Given the description of an element on the screen output the (x, y) to click on. 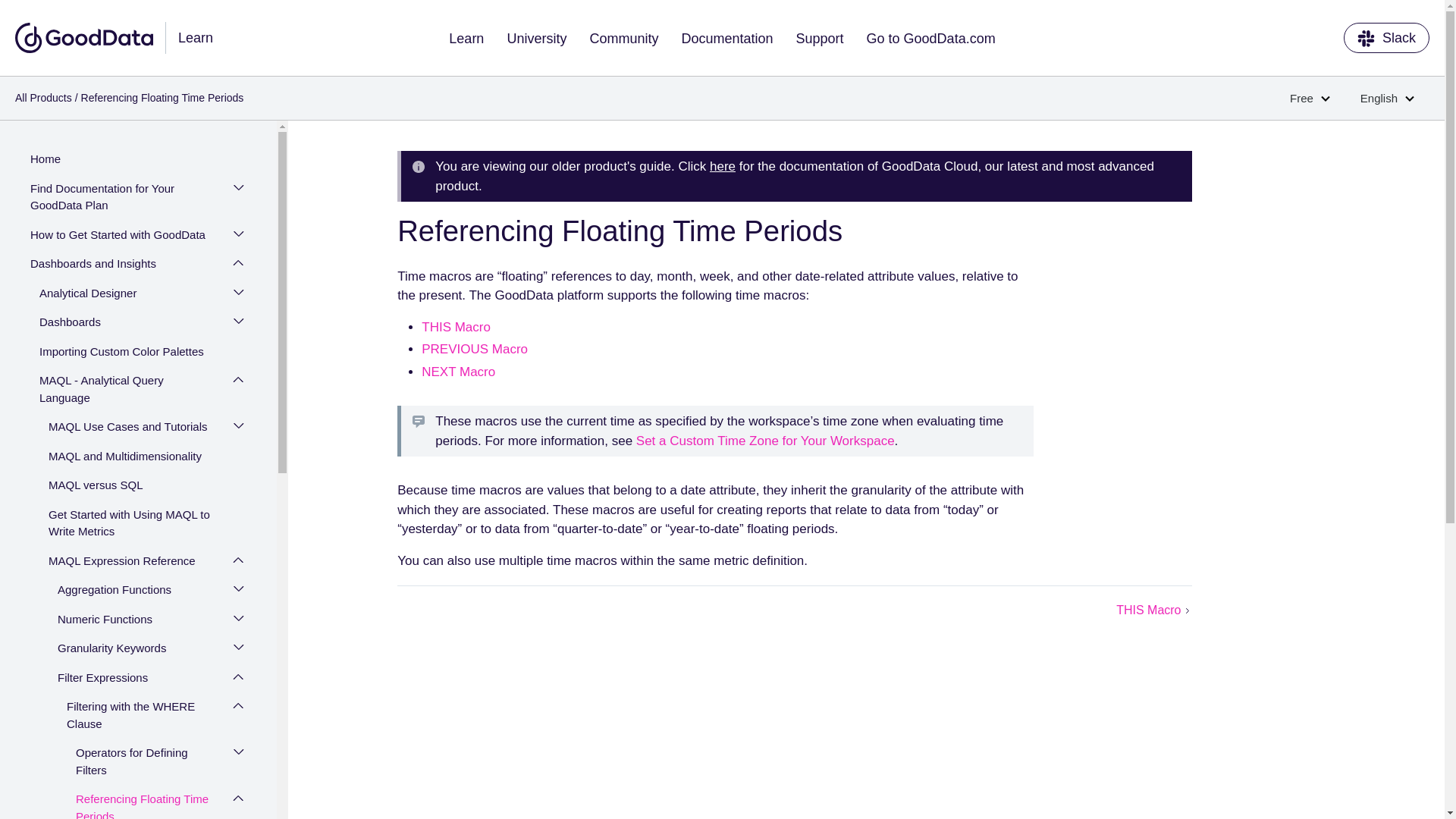
Slack (1386, 37)
Home (130, 160)
Community (623, 37)
Documentation (726, 37)
University (536, 37)
All Products (42, 97)
Go to GoodData.com (931, 37)
How to Get Started with GoodData (122, 236)
Find Documentation for Your GoodData Plan (122, 199)
Support (820, 37)
